Given the description of an element on the screen output the (x, y) to click on. 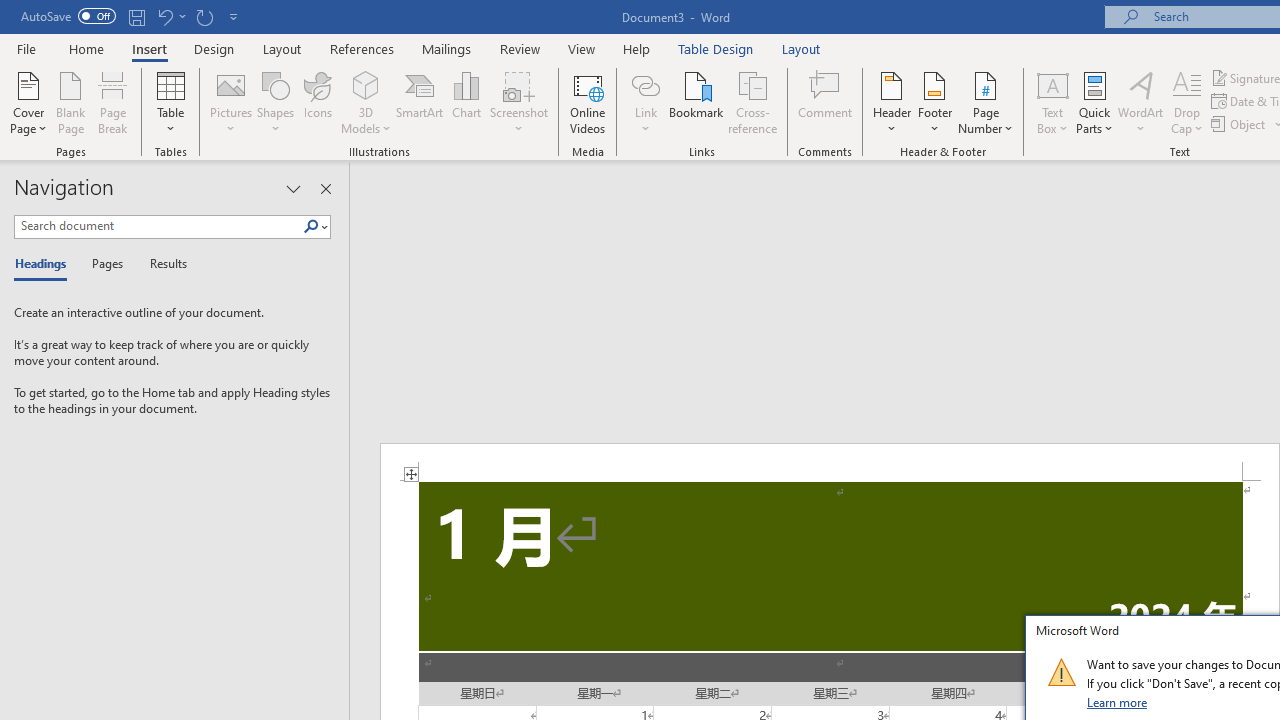
Repeat Doc Close (204, 15)
Cover Page (28, 102)
Quick Parts (1094, 102)
Blank Page (70, 102)
Drop Cap (1187, 102)
3D Models (366, 84)
Screenshot (518, 102)
Table Design (715, 48)
